Given the description of an element on the screen output the (x, y) to click on. 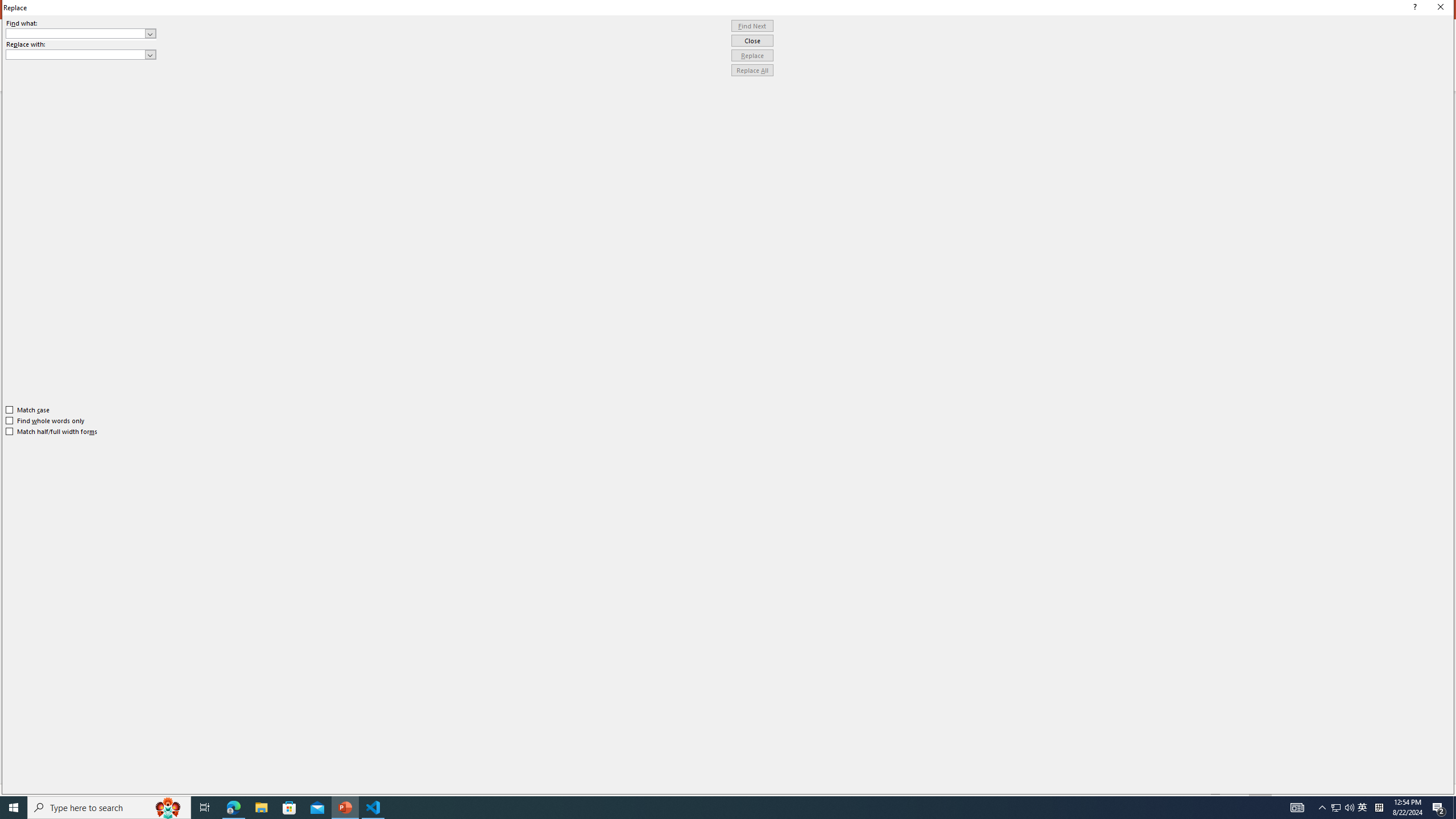
Match half/full width forms (52, 431)
Replace with (80, 54)
Find whole words only (45, 420)
Replace (752, 55)
Find what (75, 33)
Find Next (752, 25)
Replace All (752, 69)
Match case (27, 409)
Replace with (75, 53)
Find what (80, 33)
Context help (1413, 8)
